Given the description of an element on the screen output the (x, y) to click on. 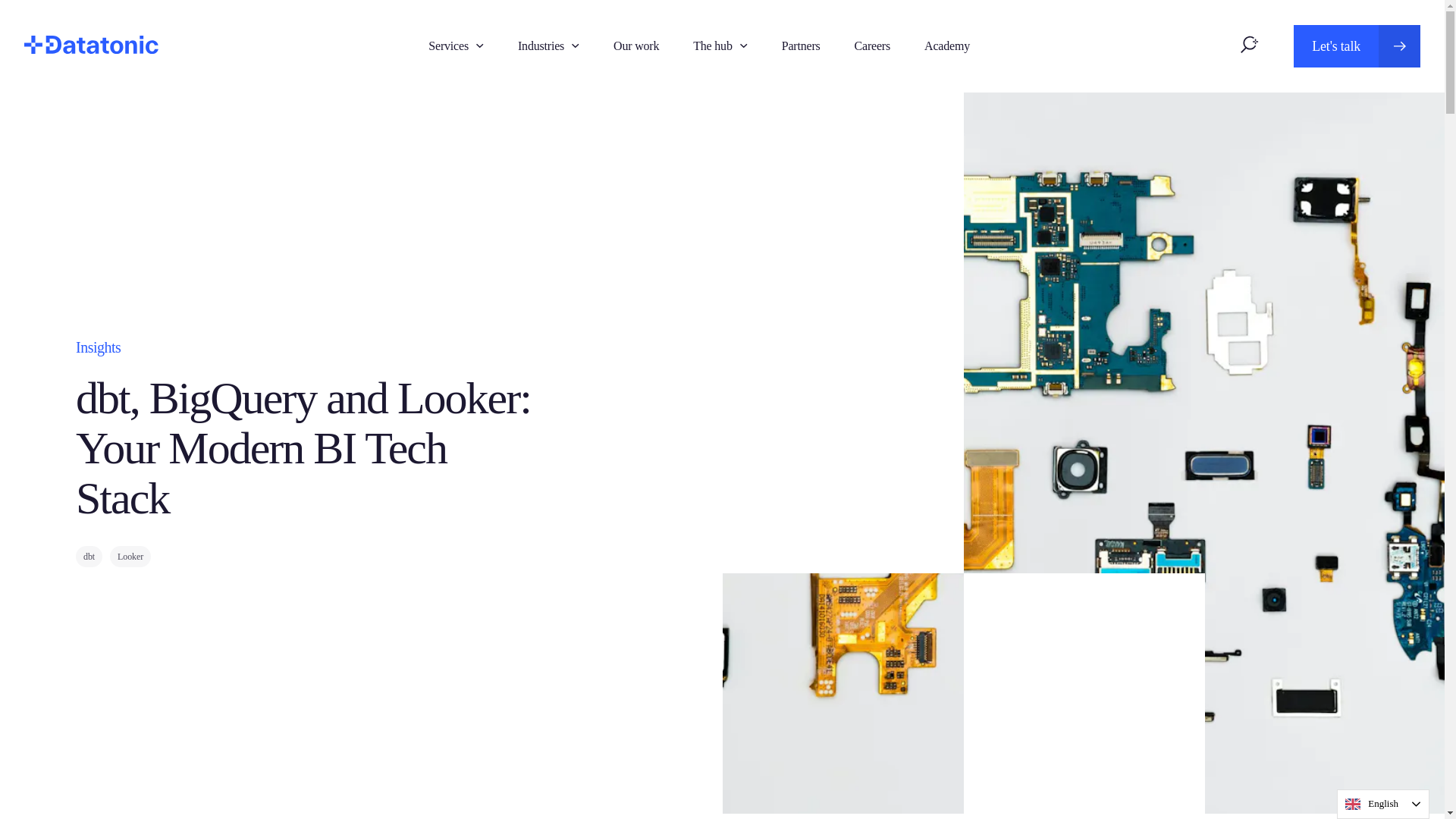
Careers (871, 44)
Partners (801, 44)
The hub (712, 44)
Academy (946, 44)
Services (448, 44)
Our work (1357, 46)
Industries (635, 44)
